Given the description of an element on the screen output the (x, y) to click on. 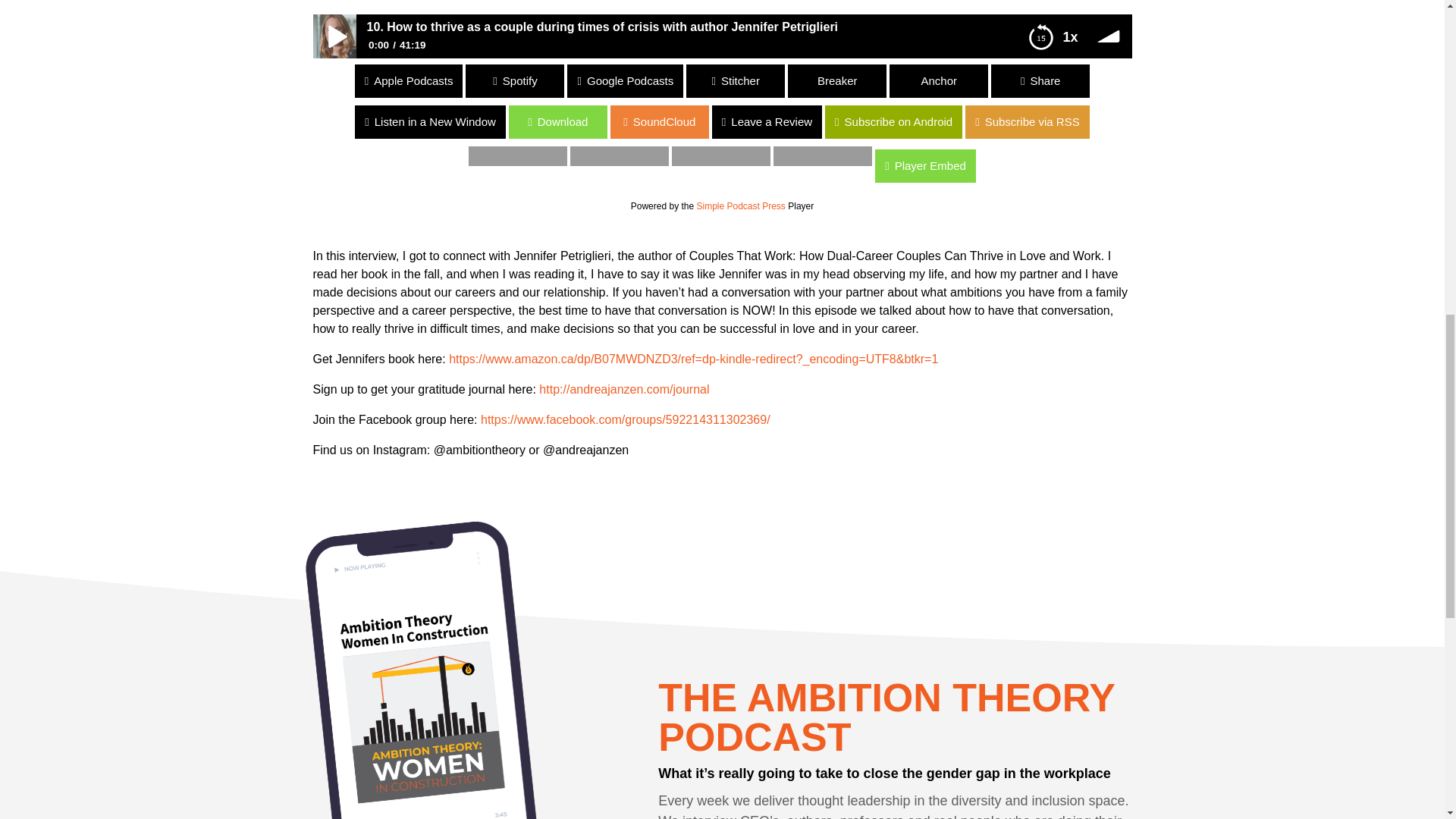
Subscribe on Android (68, 121)
Subscribe via RSS (61, 121)
Leave a Review (900, 121)
Share (1040, 80)
Download (49, 121)
Listen in a New Window (666, 121)
Stitcher (734, 80)
Breaker (836, 80)
Apple Podcasts (409, 80)
Anchor (938, 80)
Google Podcasts (624, 80)
Player Embed (50, 165)
Spotify (514, 80)
